Given the description of an element on the screen output the (x, y) to click on. 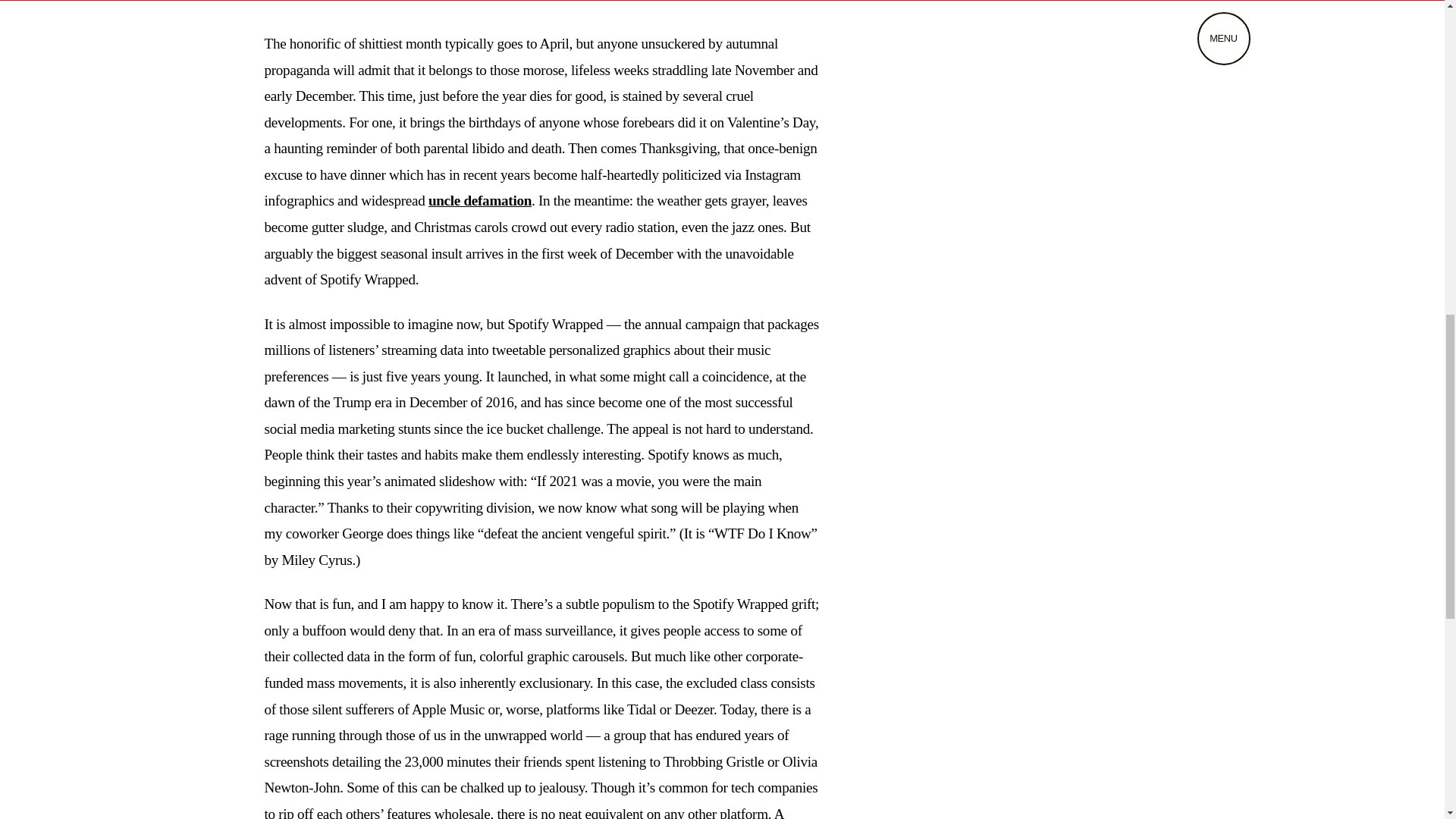
uncle defamation (479, 200)
